Given the description of an element on the screen output the (x, y) to click on. 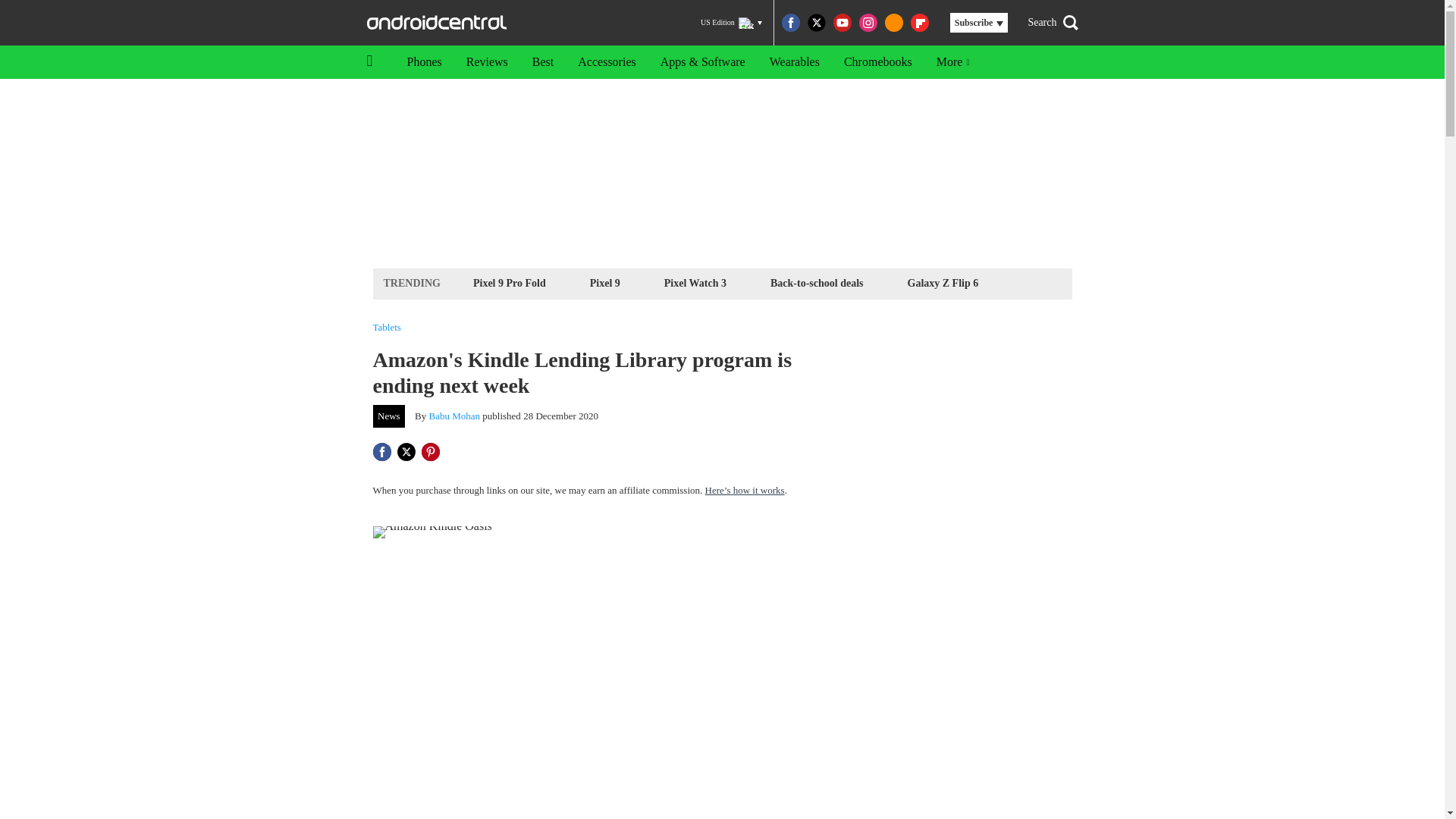
Best (542, 61)
Tablets (386, 327)
Accessories (606, 61)
News (389, 415)
Galaxy Z Flip 6 (943, 282)
Phones (423, 61)
Chromebooks (877, 61)
Back-to-school deals (817, 282)
Babu Mohan (454, 415)
Pixel 9 (605, 282)
